Given the description of an element on the screen output the (x, y) to click on. 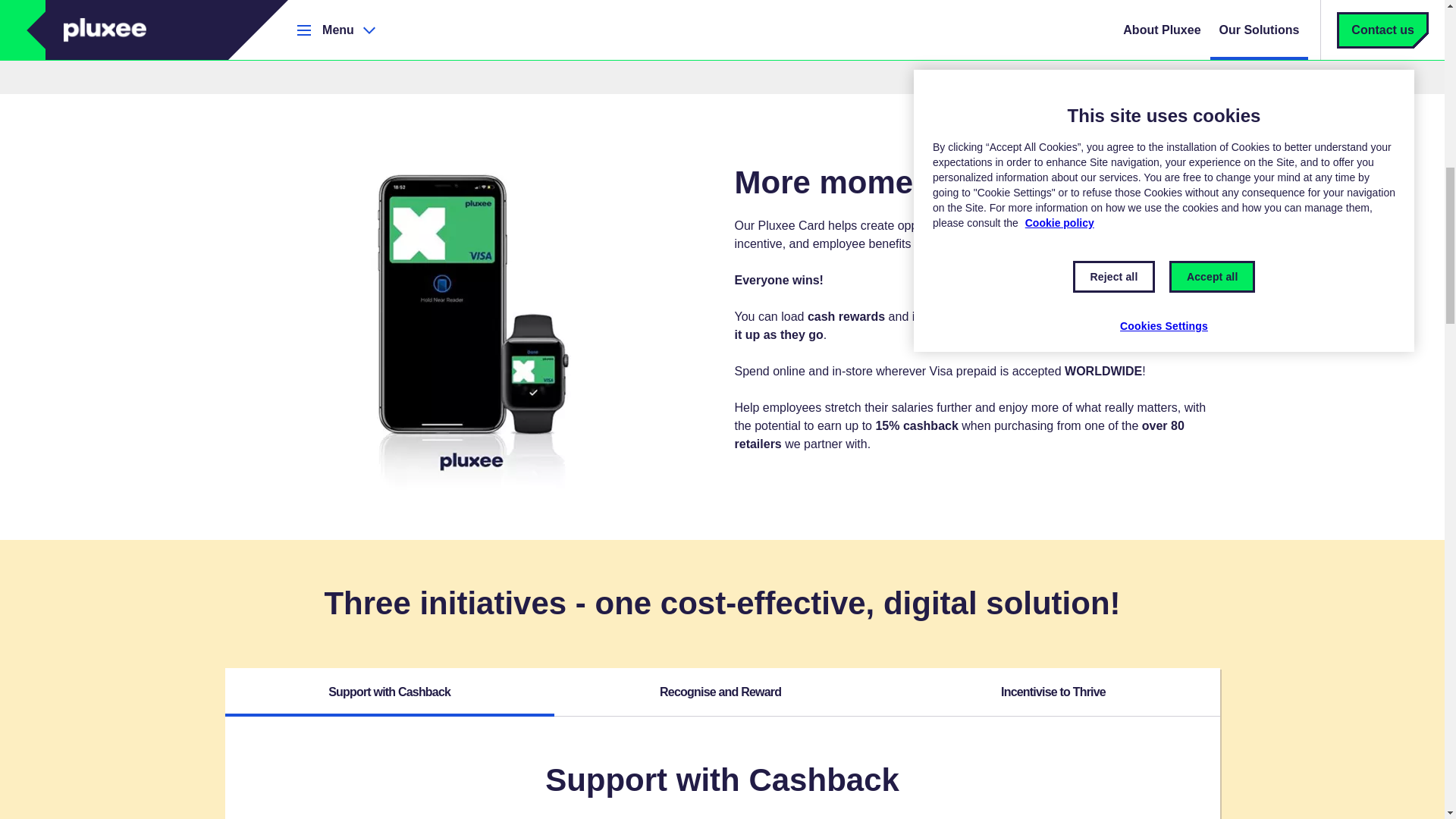
Support with Cashback (388, 691)
Incentivise to Thrive (1053, 691)
Recognise and Reward (720, 691)
